Given the description of an element on the screen output the (x, y) to click on. 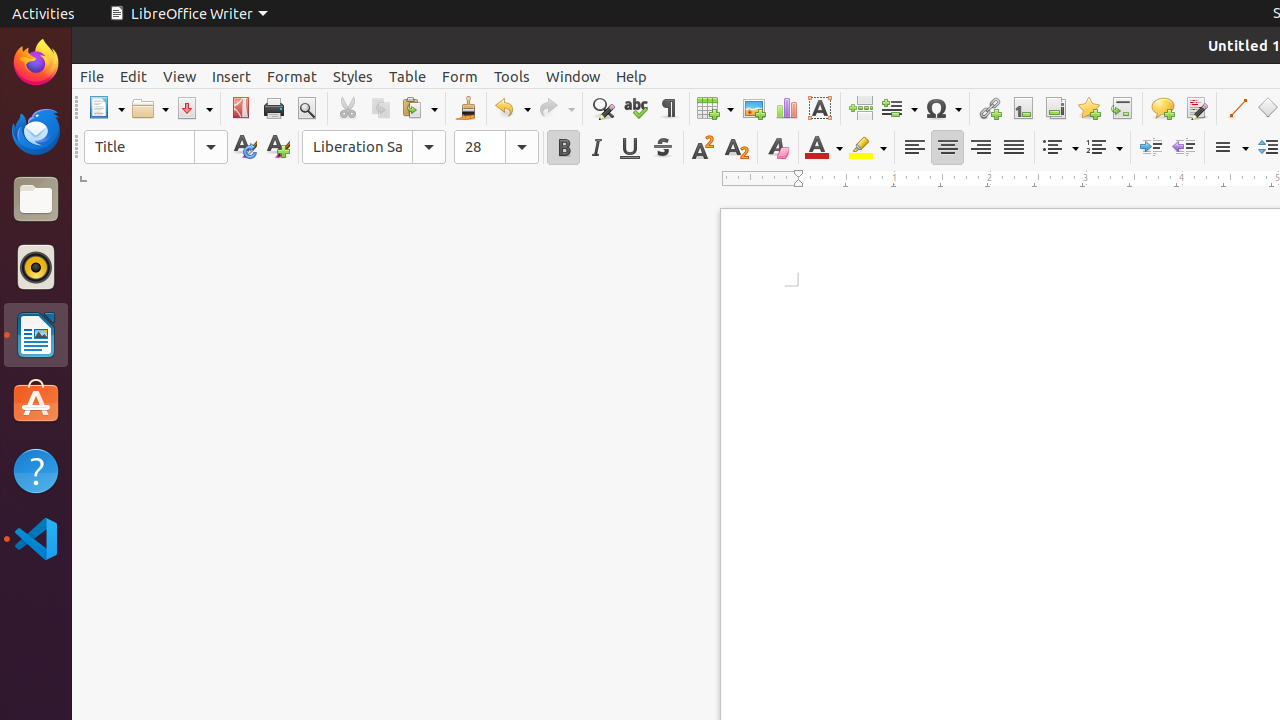
Clear Element type: push-button (777, 147)
LibreOffice Writer Element type: menu (188, 13)
Font Size Element type: combo-box (496, 147)
Comment Element type: push-button (1162, 108)
LibreOffice Writer Element type: push-button (36, 334)
